Given the description of an element on the screen output the (x, y) to click on. 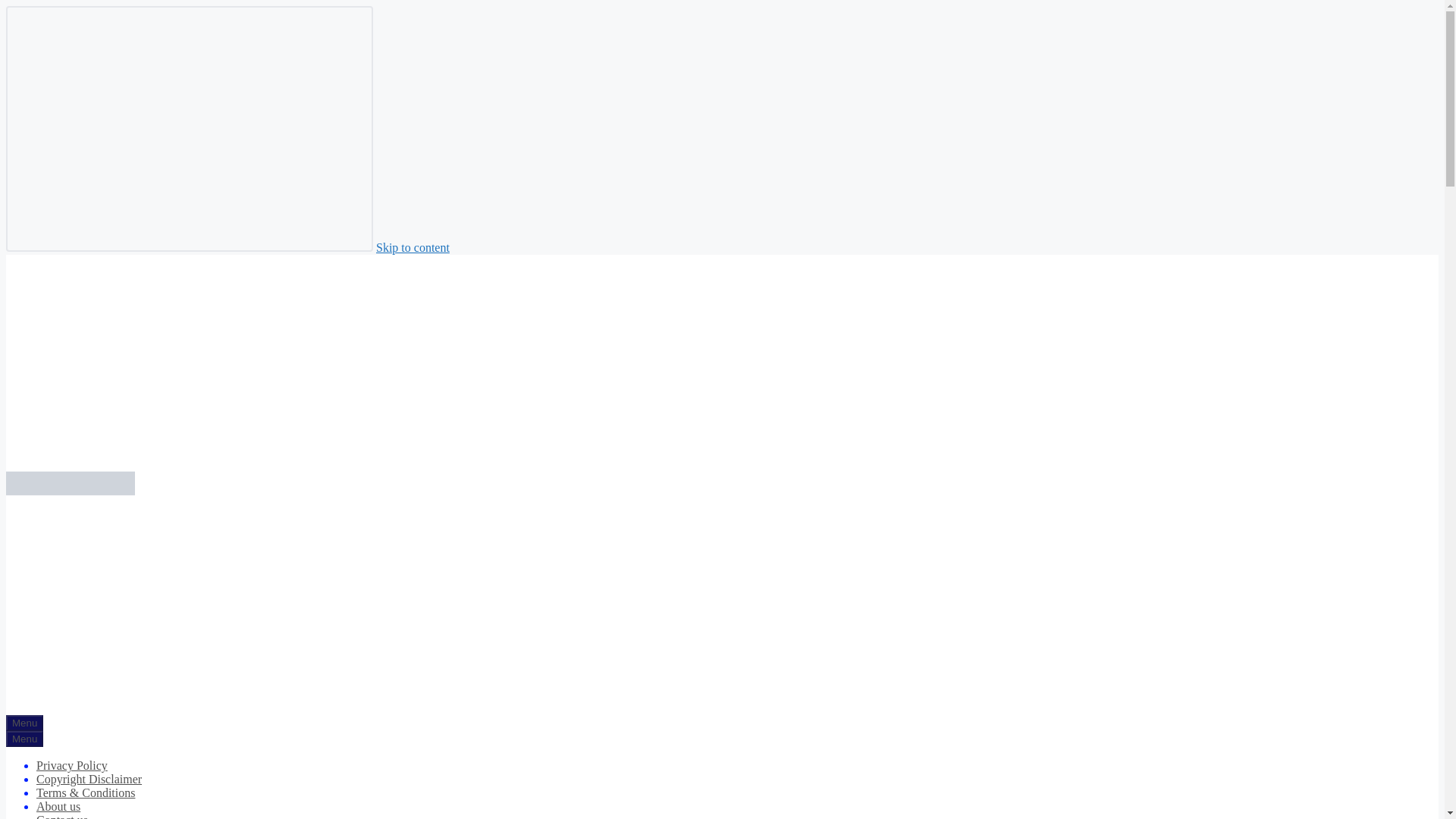
Copyright Disclaimer (88, 779)
Skip to content (412, 246)
Menu (24, 738)
Menu (24, 722)
About us (58, 806)
Contact us (61, 816)
Privacy Policy (71, 765)
Skip to content (412, 246)
